Given the description of an element on the screen output the (x, y) to click on. 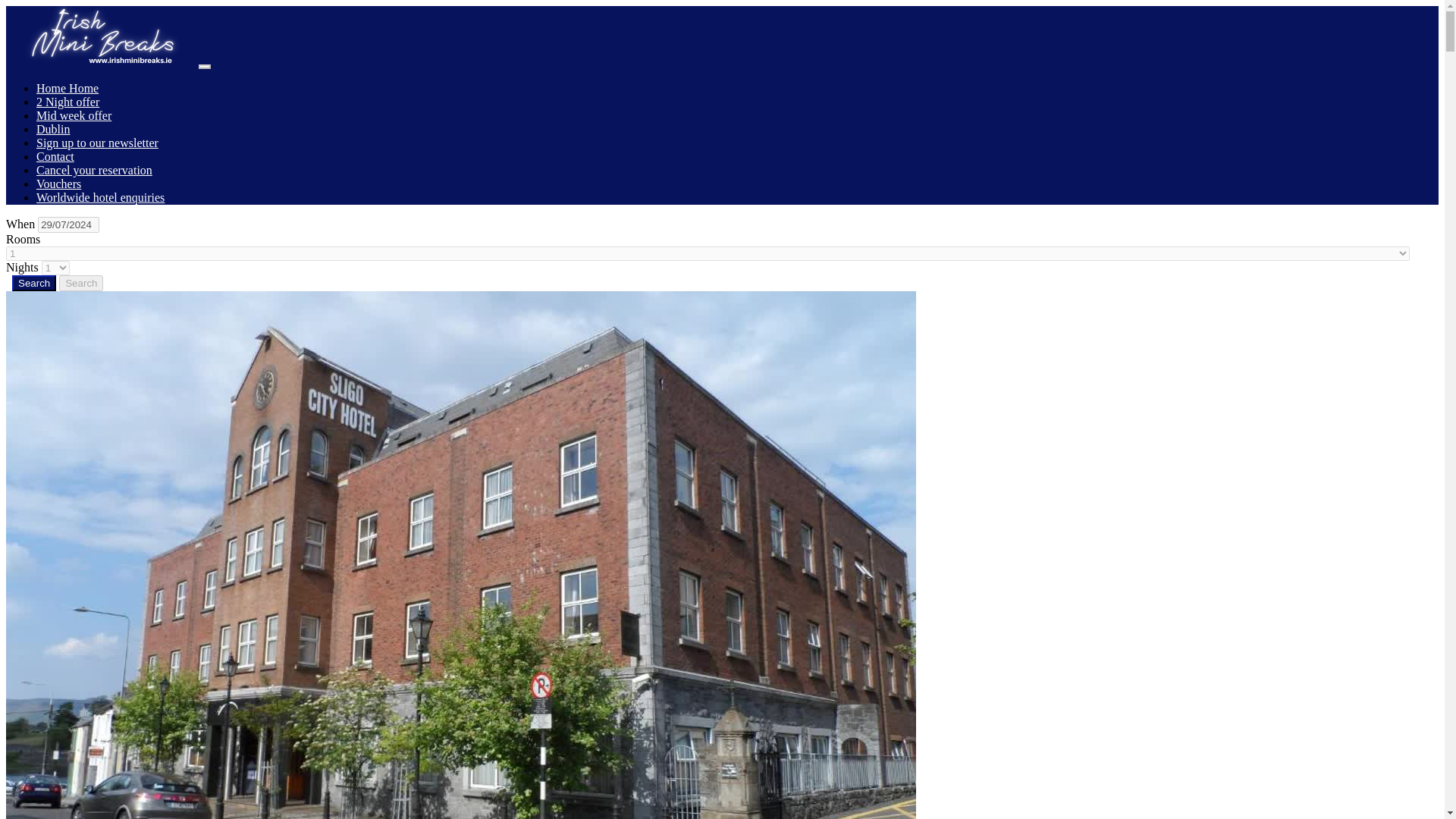
Search (33, 283)
Search (33, 283)
Vouchers (58, 183)
Worldwide hotel enquiries (100, 196)
Search (81, 283)
Search (81, 283)
Home Home (67, 88)
Dublin (52, 128)
Search (81, 283)
Search (33, 283)
Sign up to our newsletter (97, 142)
2 Night offer (67, 101)
Contact (55, 155)
Cancel your reservation (94, 169)
Mid week offer (74, 115)
